Given the description of an element on the screen output the (x, y) to click on. 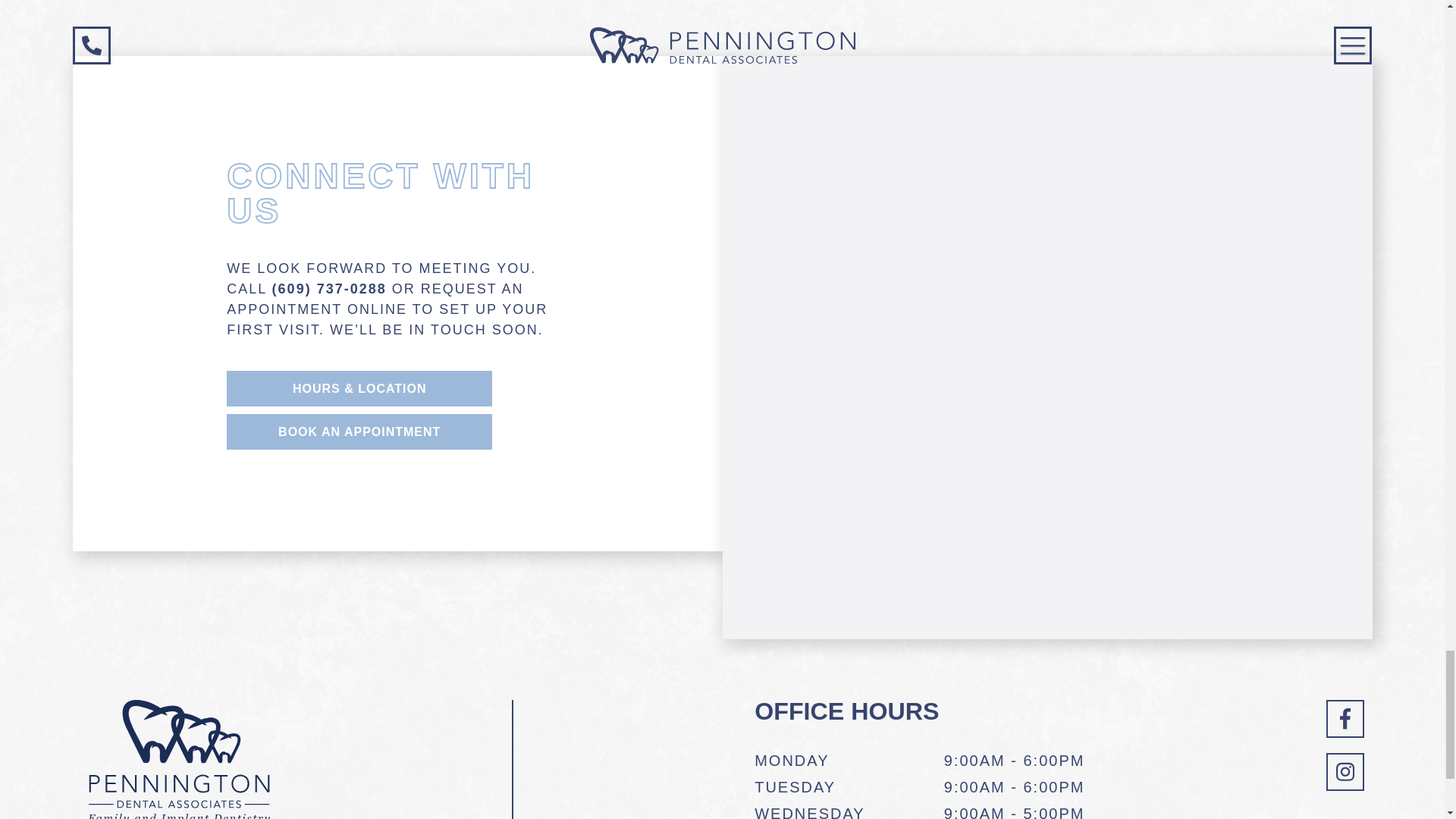
BOOK AN APPOINTMENT (359, 431)
